Given the description of an element on the screen output the (x, y) to click on. 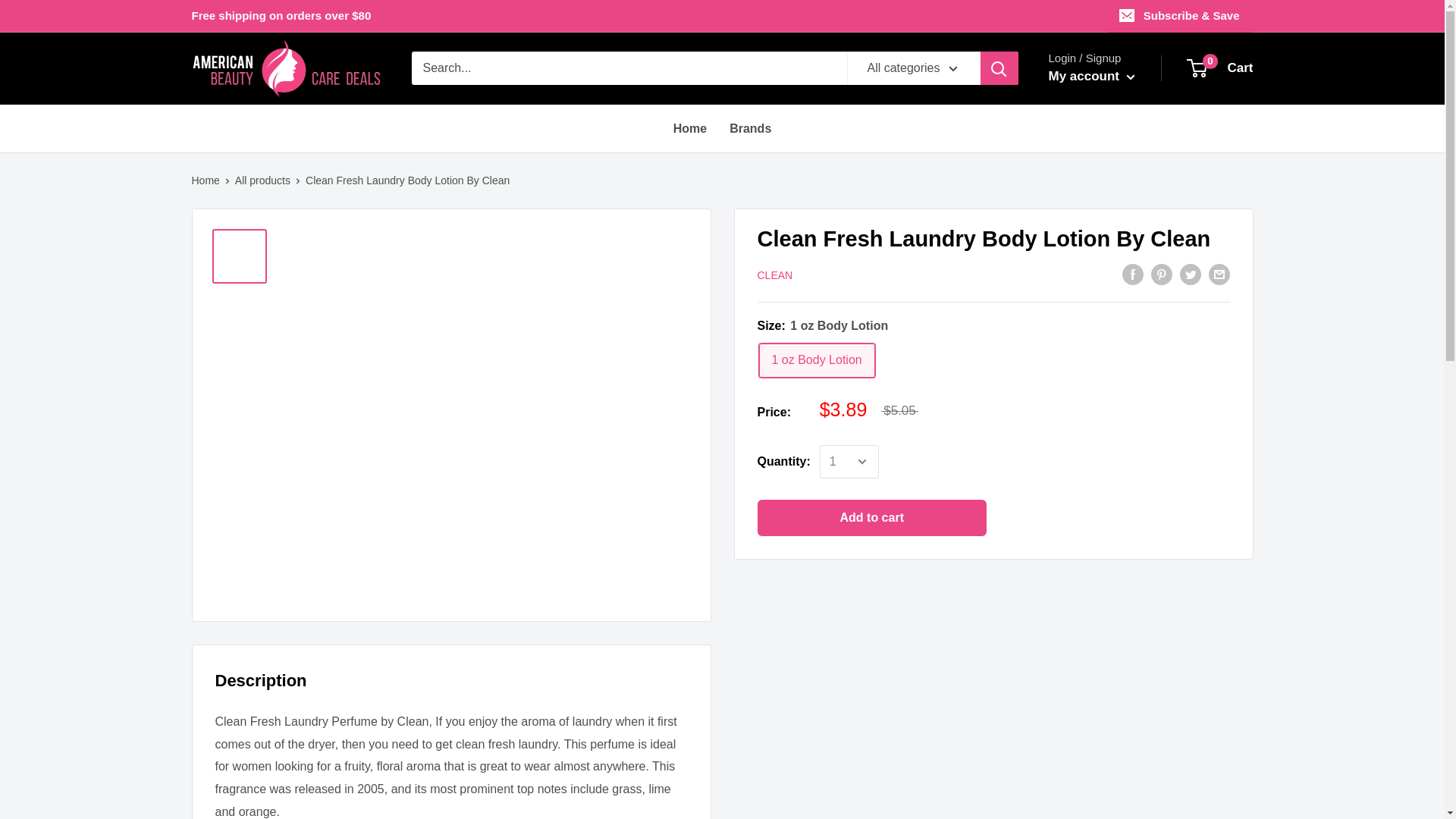
Add to cart (1220, 68)
CLEAN (872, 517)
My account (774, 275)
Brands (1091, 76)
Home (750, 128)
Home (204, 180)
All products (689, 128)
1 oz Body Lotion (261, 180)
